Given the description of an element on the screen output the (x, y) to click on. 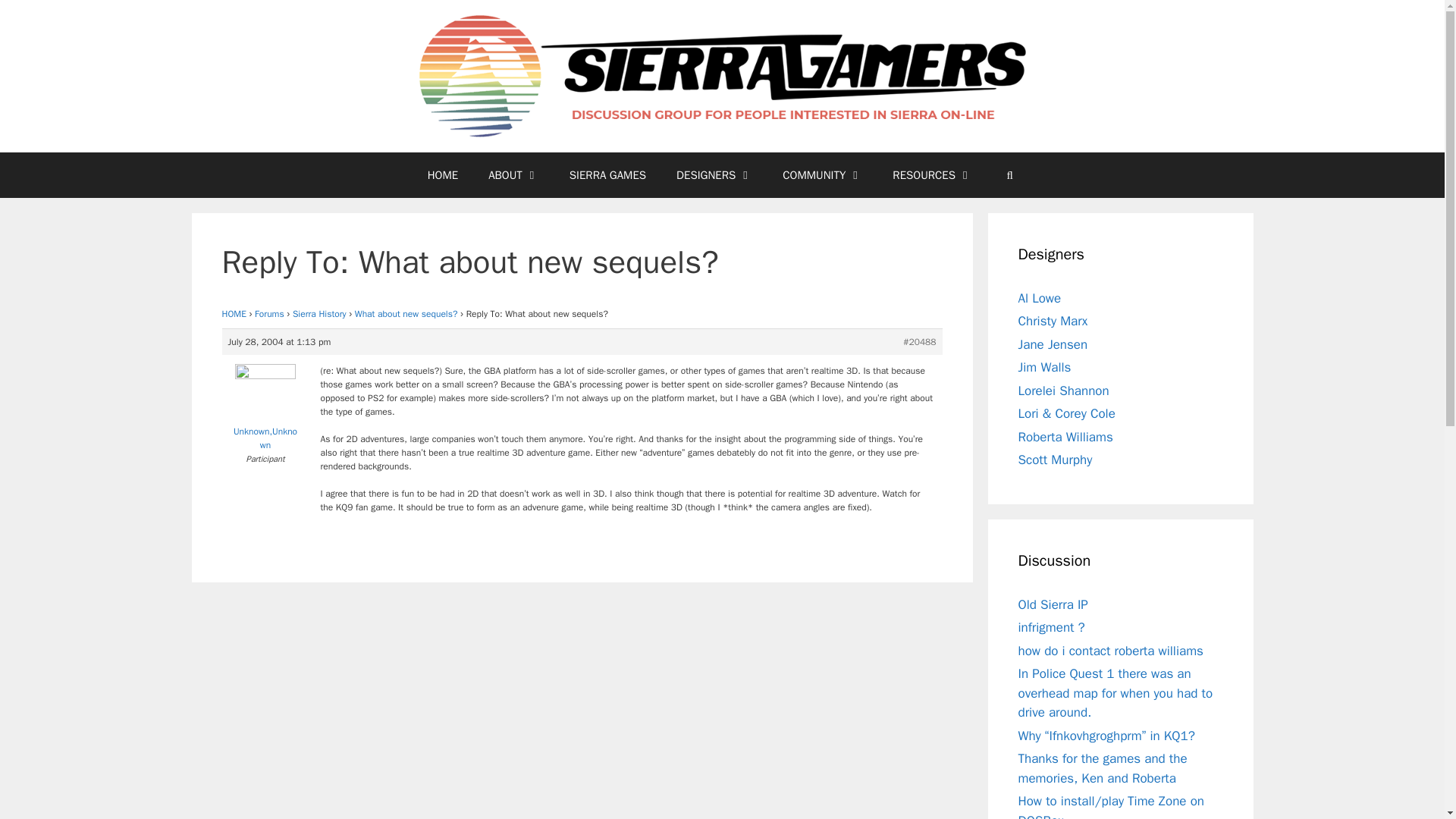
View Unknown,Unknown's profile (264, 411)
Forums (268, 313)
ABOUT (513, 175)
Al Lowe (1039, 298)
HOME (442, 175)
DESIGNERS (714, 175)
RESOURCES (932, 175)
HOME (233, 313)
COMMUNITY (822, 175)
Unknown,Unknown (264, 411)
